Given the description of an element on the screen output the (x, y) to click on. 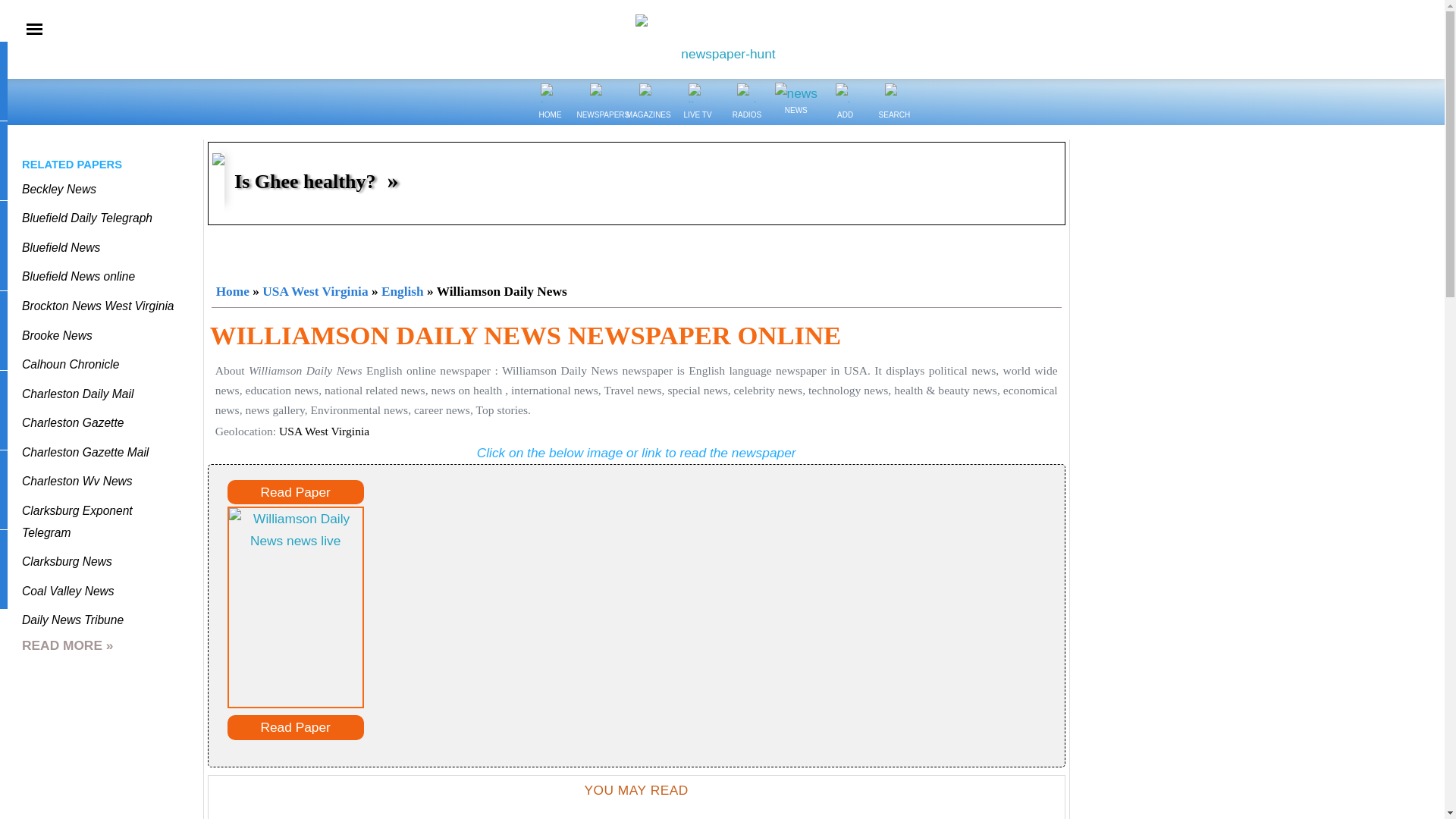
NEWSPAPERS (598, 124)
ADD PAPER (844, 92)
Beckley News (58, 188)
SEARCH (893, 124)
HOME (549, 92)
NEWS (795, 93)
Charleston Gazette Mail (84, 451)
Bluefield News online (78, 276)
HOME (550, 124)
SEARCH (894, 92)
Bluefield News (60, 246)
Clarksburg Exponent Telegram (76, 521)
Charleston Gazette (72, 422)
MAGAZINE (648, 92)
Bluefield Daily Telegraph (86, 217)
